Given the description of an element on the screen output the (x, y) to click on. 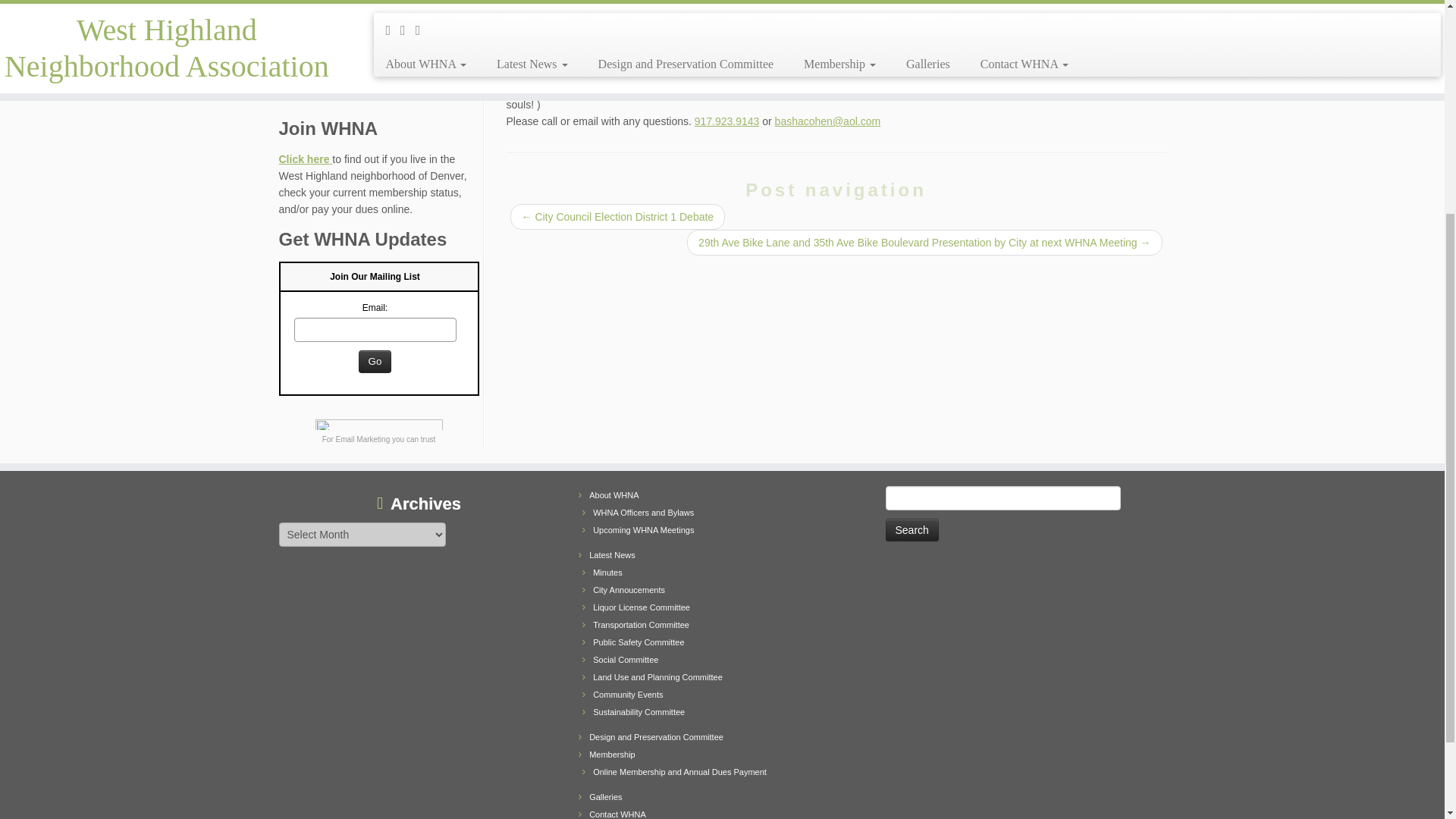
Search (912, 529)
Go (374, 361)
Click here (306, 159)
Go (374, 361)
Email Marketing (363, 438)
917.923.9143 (727, 121)
WHNA Officers and Bylaws (643, 511)
Zoom (292, 56)
About WHNA (614, 494)
